Given the description of an element on the screen output the (x, y) to click on. 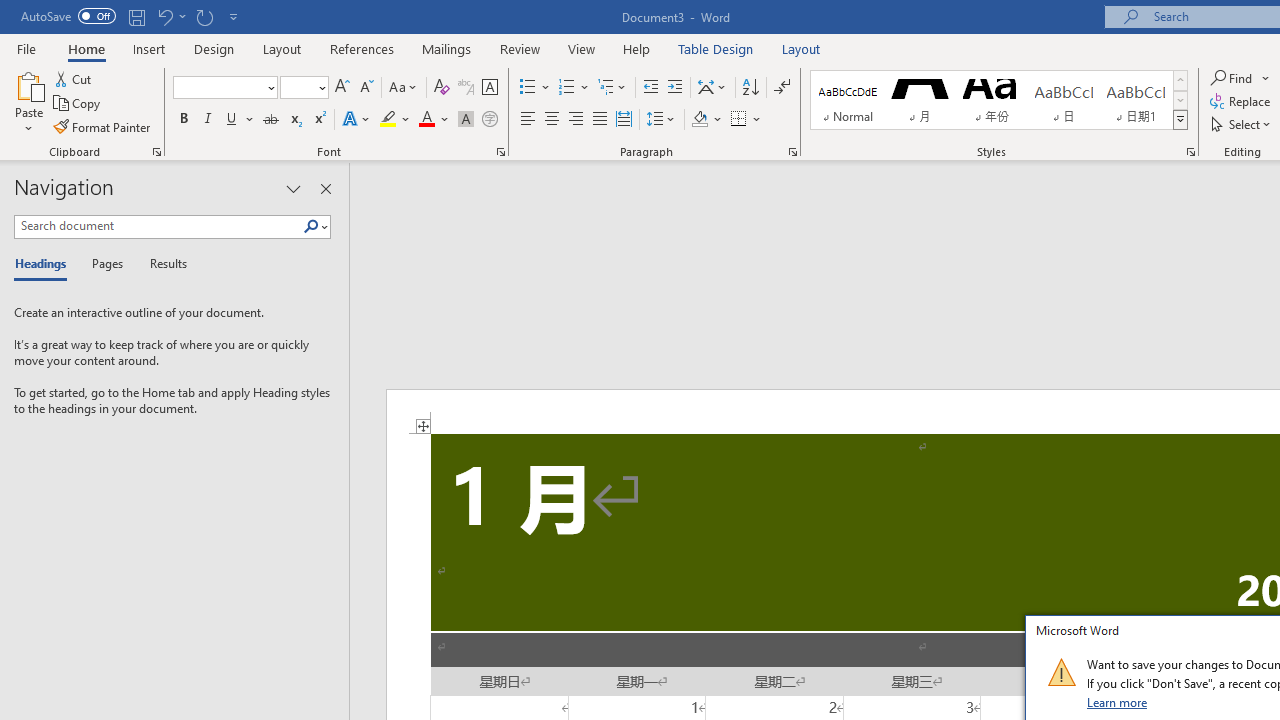
Mailings (447, 48)
References (362, 48)
Character Border (489, 87)
Multilevel List (613, 87)
Styles (1179, 120)
Shrink Font (365, 87)
Customize Quick Access Toolbar (234, 15)
Clear Formatting (442, 87)
